Given the description of an element on the screen output the (x, y) to click on. 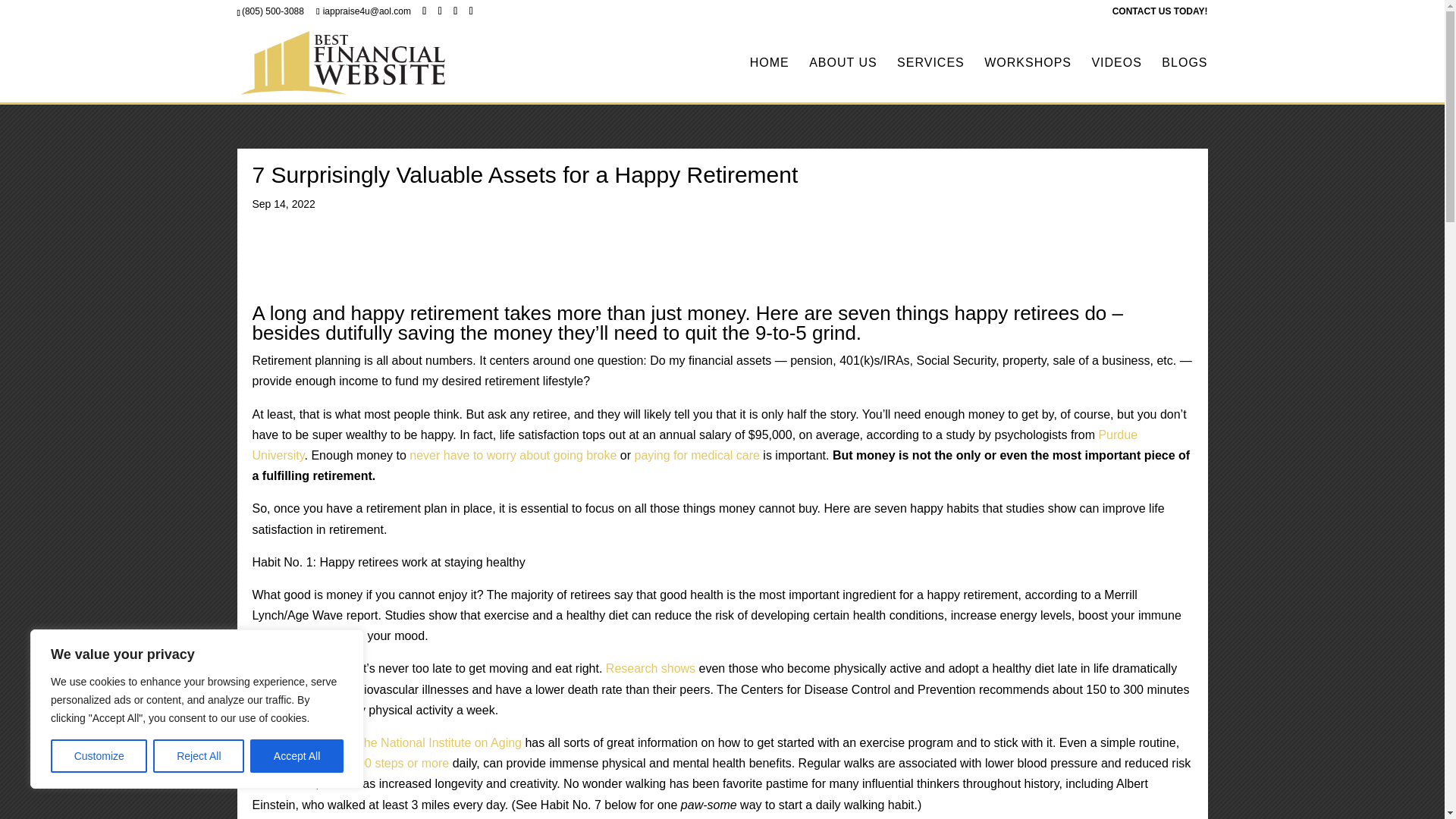
Customize (98, 756)
VIDEOS (1115, 79)
SERVICES (929, 79)
CONTACT US TODAY! (1160, 14)
ABOUT US (843, 79)
Accept All (296, 756)
Reject All (198, 756)
WORKSHOPS (1027, 79)
HOME (769, 79)
BLOGS (1184, 79)
